Given the description of an element on the screen output the (x, y) to click on. 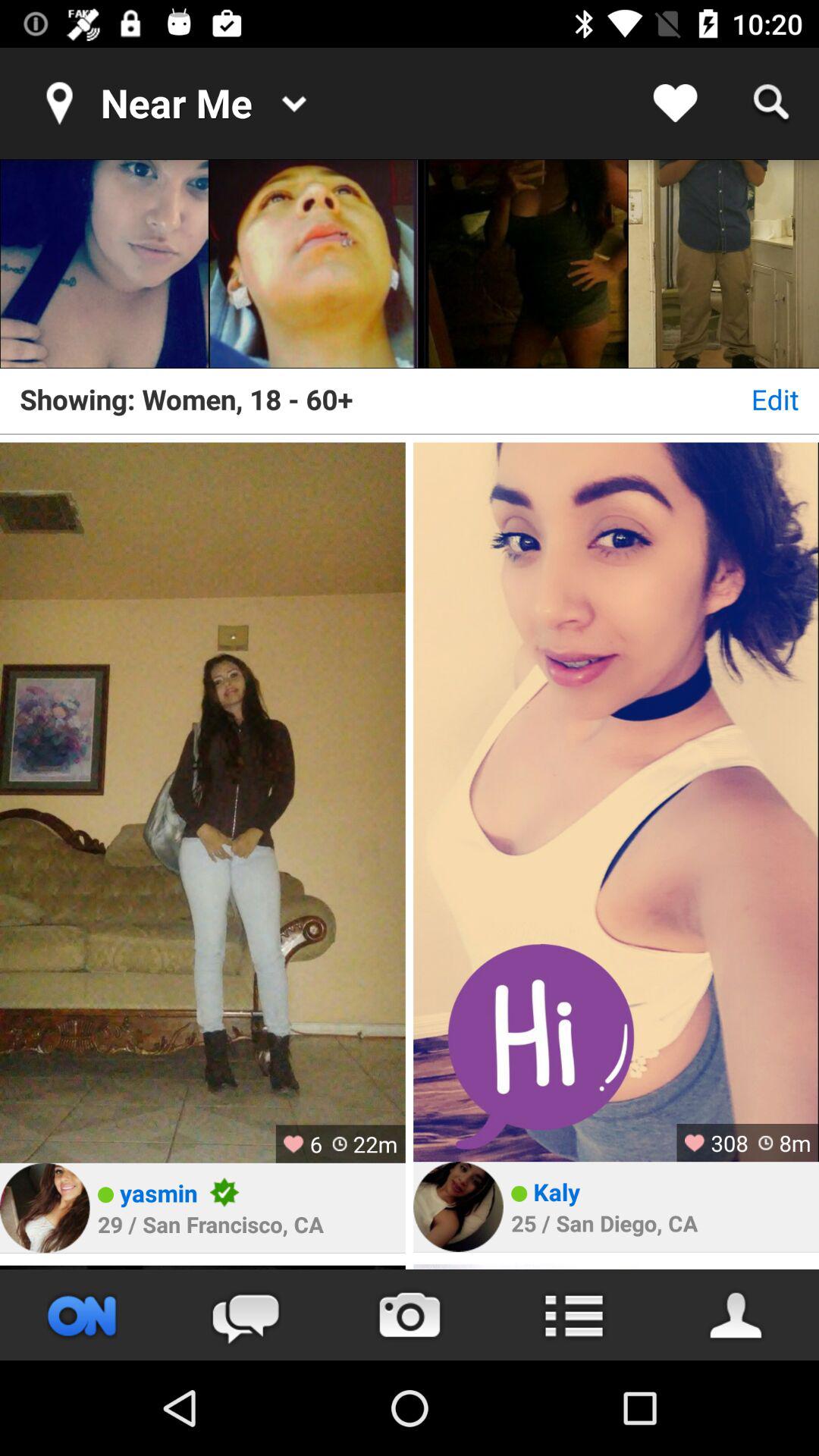
open chats (245, 1315)
